Given the description of an element on the screen output the (x, y) to click on. 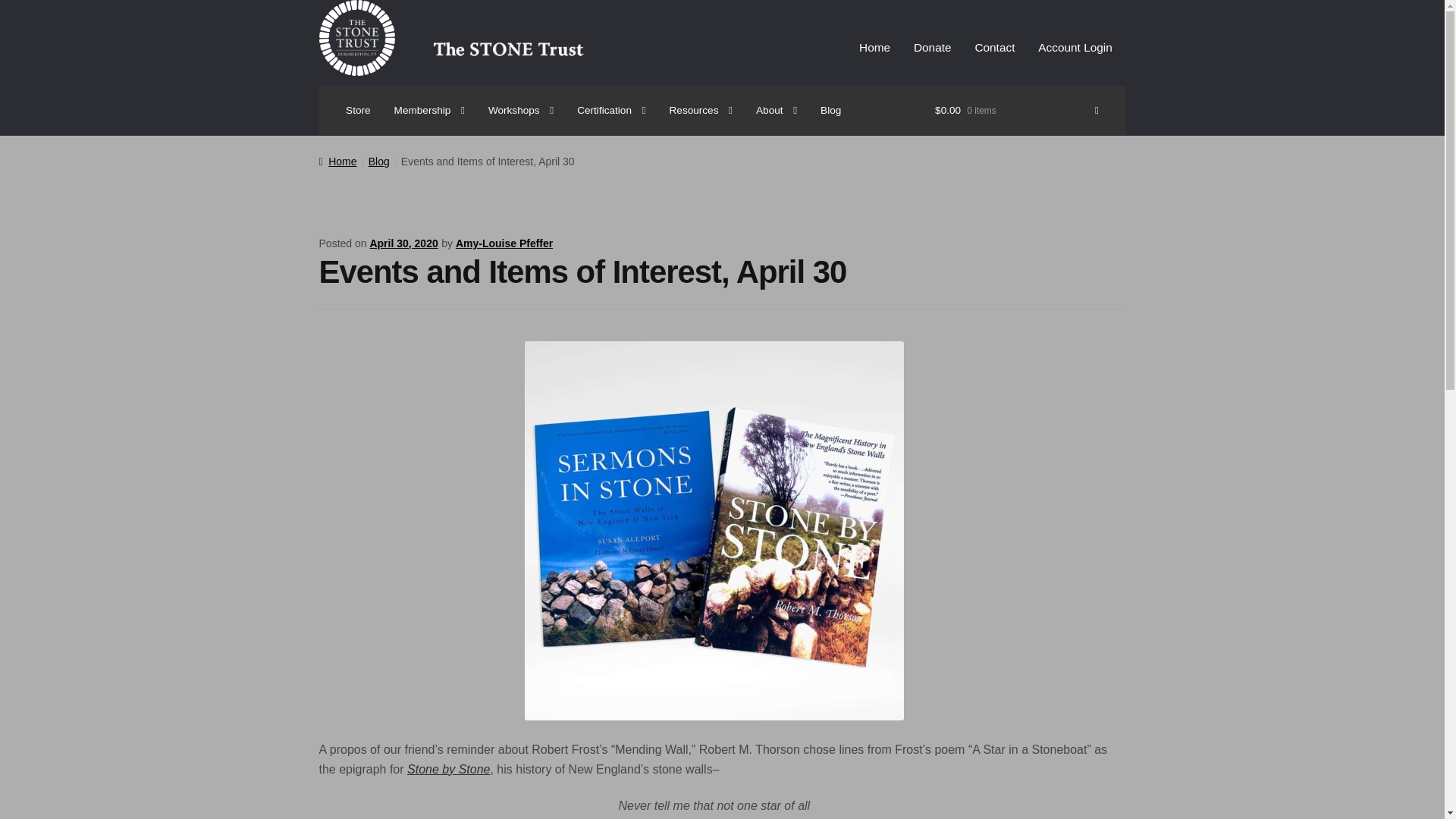
Contact (994, 47)
View your shopping cart (1016, 110)
Store (358, 110)
Donate (931, 47)
Membership (430, 110)
Home (874, 47)
Workshops (520, 110)
Account Login (1074, 47)
Certification (611, 110)
